Given the description of an element on the screen output the (x, y) to click on. 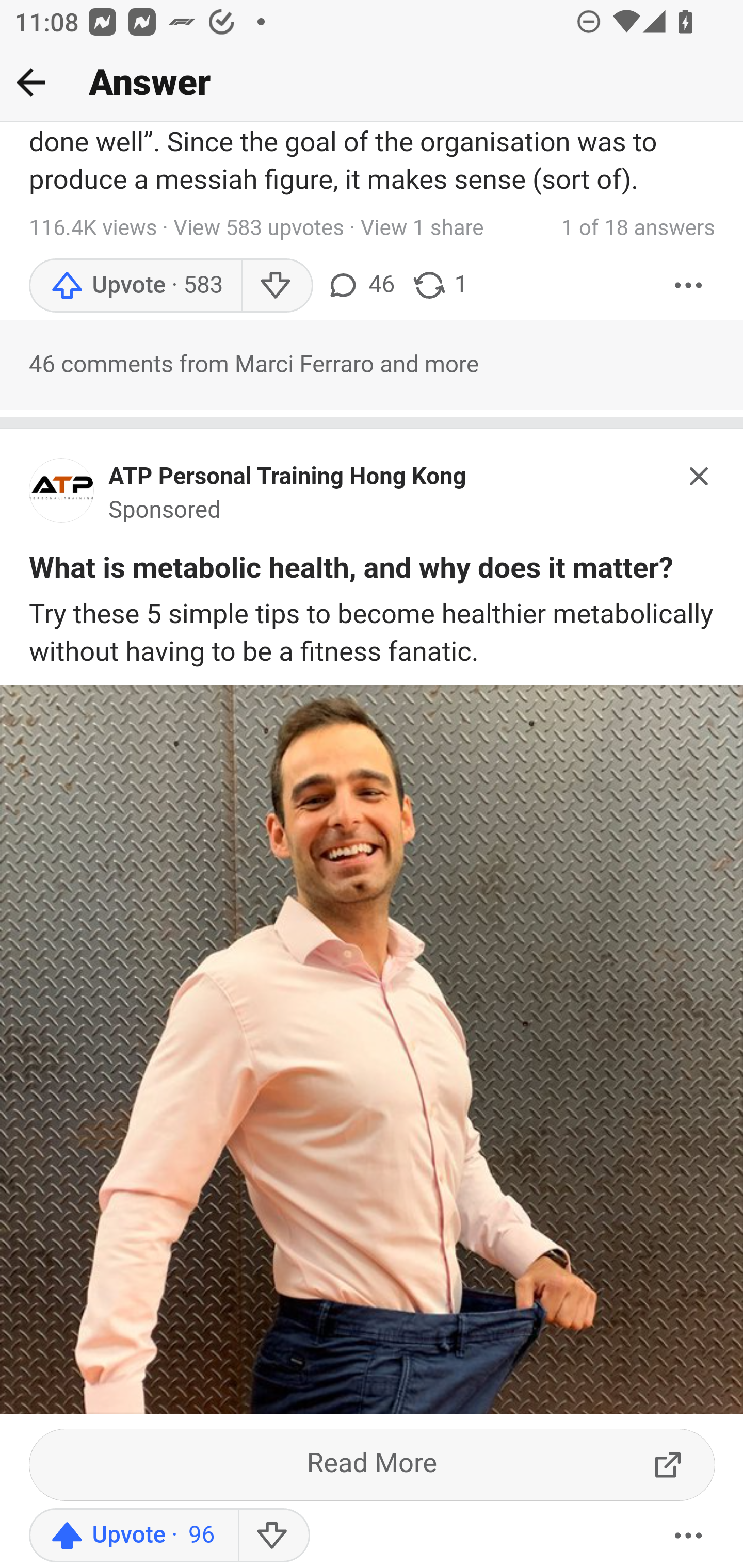
Back Answer (371, 82)
Back (30, 82)
View 583 upvotes (258, 229)
View 1 share (420, 229)
1 of 18 answers (637, 229)
Upvote (135, 286)
Downvote (277, 286)
46 comments (360, 286)
1 share (439, 286)
More (688, 286)
46 comments from Marci Ferraro and more (371, 365)
Hide (699, 475)
main-qimg-1f396d5a5e054ddd9a425d683de3a2f9 (61, 495)
ATP Personal Training Hong Kong (287, 477)
Sponsored (165, 511)
What is metabolic health, and why does it matter? (350, 571)
Read More ExternalLink (372, 1465)
Upvote (133, 1535)
Downvote (273, 1535)
More (688, 1535)
